Given the description of an element on the screen output the (x, y) to click on. 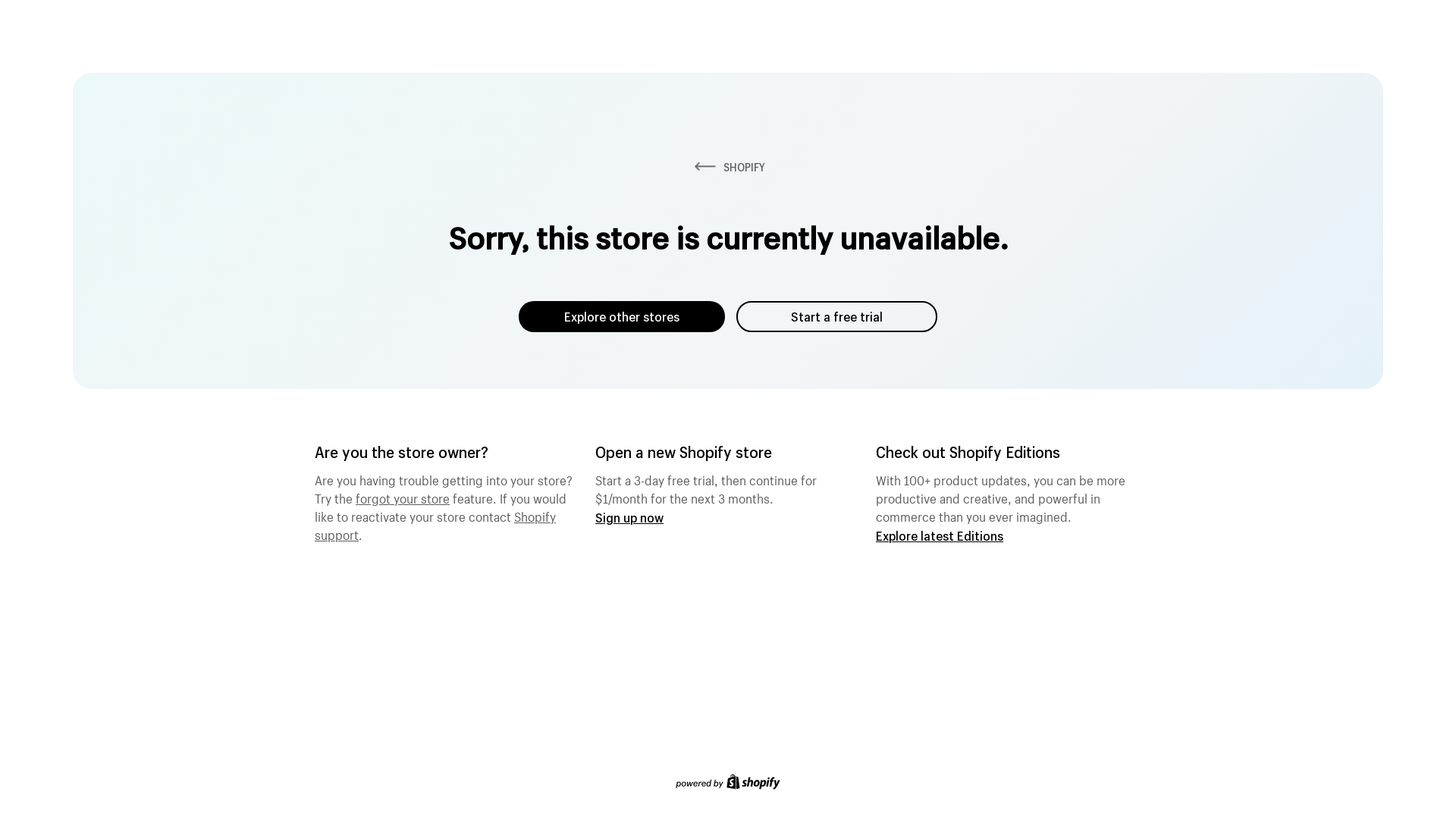
Explore latest Editions Element type: text (939, 535)
Explore other stores Element type: text (621, 316)
Start a free trial Element type: text (836, 316)
forgot your store Element type: text (402, 496)
Shopify support Element type: text (434, 523)
SHOPIFY Element type: text (727, 167)
Sign up now Element type: text (629, 517)
